Given the description of an element on the screen output the (x, y) to click on. 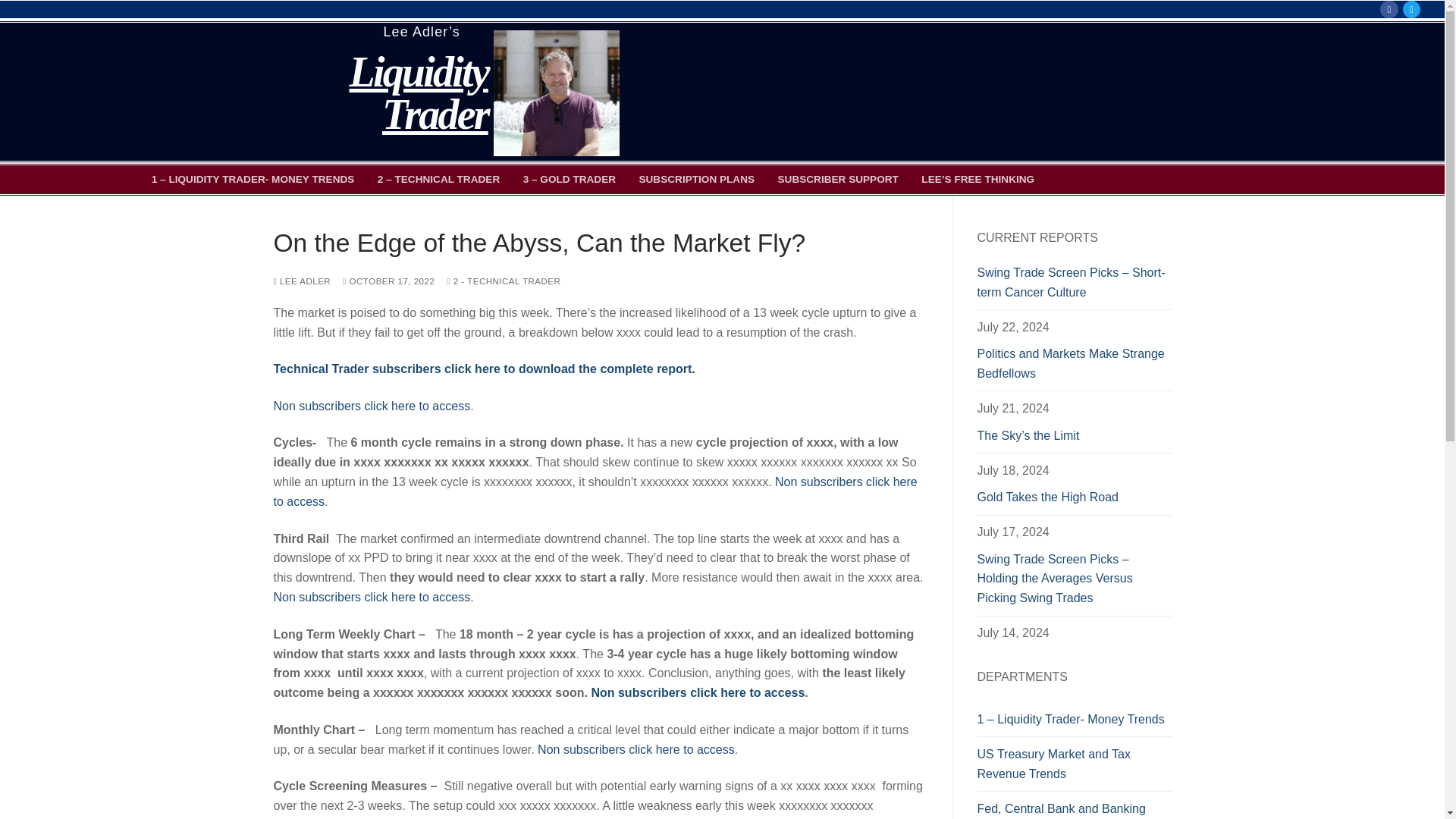
Non subscribers click here to access (636, 748)
Non subscribers click here to access (371, 596)
Click to download report (483, 368)
SUBSCRIBER SUPPORT (838, 179)
Liquidity Trader (418, 92)
LEE ADLER (301, 280)
SUBSCRIPTION PLANS (696, 179)
Twitter (1411, 9)
OCTOBER 17, 2022 (387, 280)
2 - TECHNICAL TRADER (503, 280)
Facebook (1388, 9)
Non subscribers click here to access (371, 405)
Non subscribers click here to access (595, 491)
Politics and Markets Make Strange Bedfellows (1073, 367)
